Given the description of an element on the screen output the (x, y) to click on. 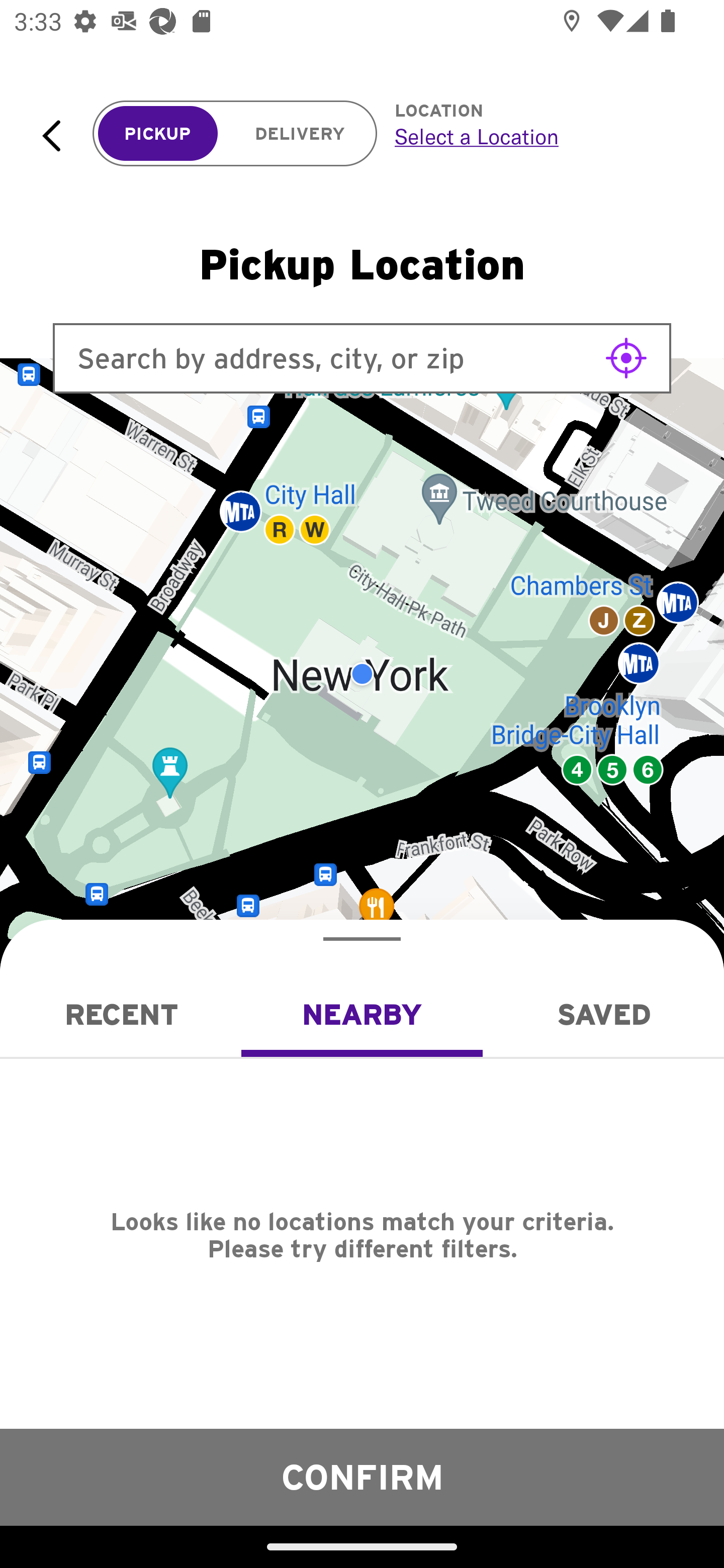
PICKUP (157, 133)
DELIVERY (299, 133)
Select a Location (536, 136)
Search by address, city, or zip (361, 358)
Google Map (362, 674)
Recent RECENT (120, 1014)
Saved SAVED (603, 1014)
CONFIRM (362, 1476)
